Given the description of an element on the screen output the (x, y) to click on. 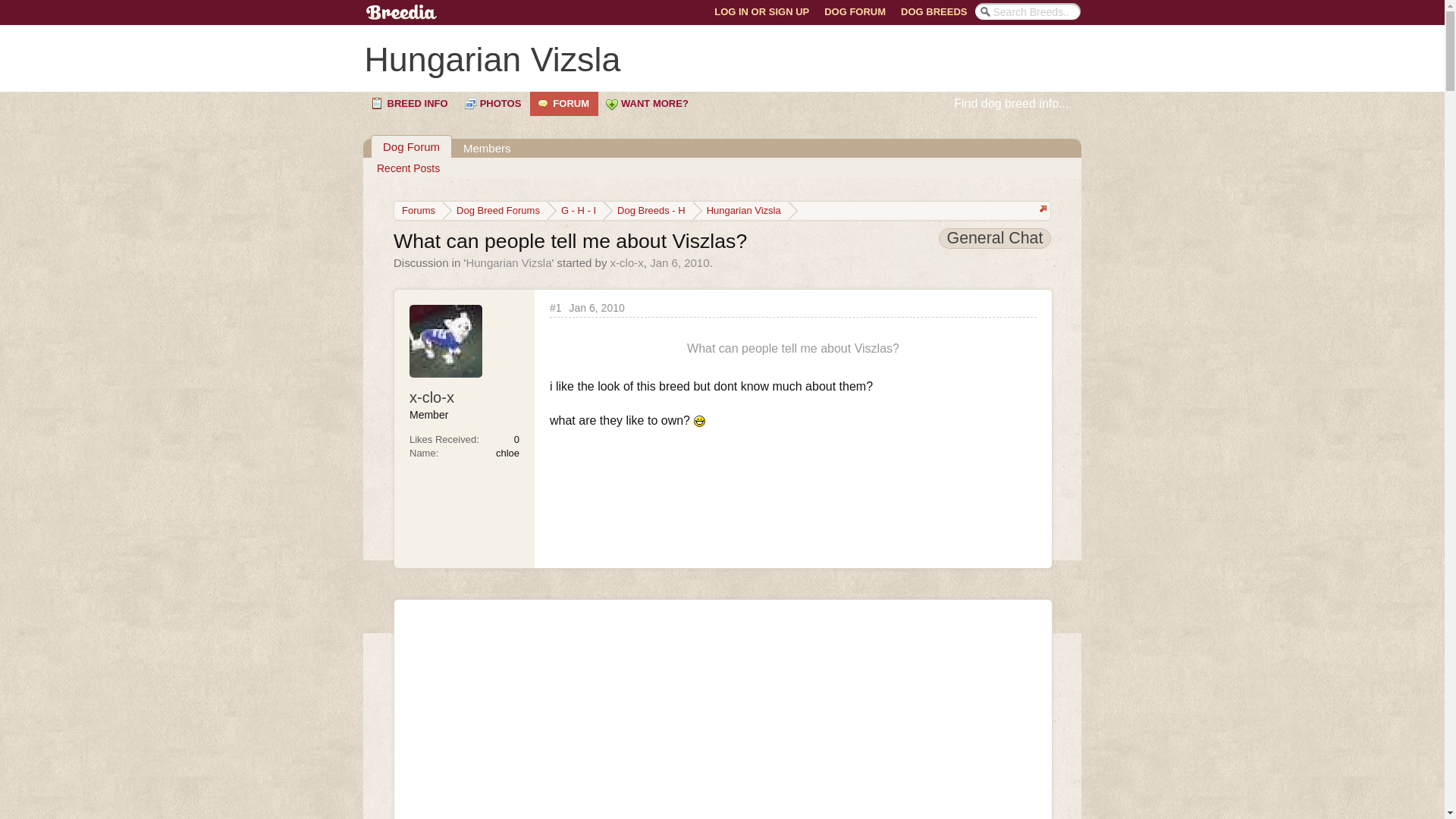
Find dog breed info... (1018, 103)
Search (20, 8)
Open quick navigation (1041, 210)
Forums (418, 210)
DOG BREEDS (933, 12)
Dog Forum (411, 146)
grin    :grin: (699, 420)
WANT MORE? (647, 103)
Members (486, 148)
BREED INFO (410, 103)
LOG IN OR SIGN UP (761, 12)
Hungarian Vizsla (508, 262)
Dog Breeds - H (648, 210)
Jan 6, 2010 (679, 262)
FORUM (563, 103)
